Given the description of an element on the screen output the (x, y) to click on. 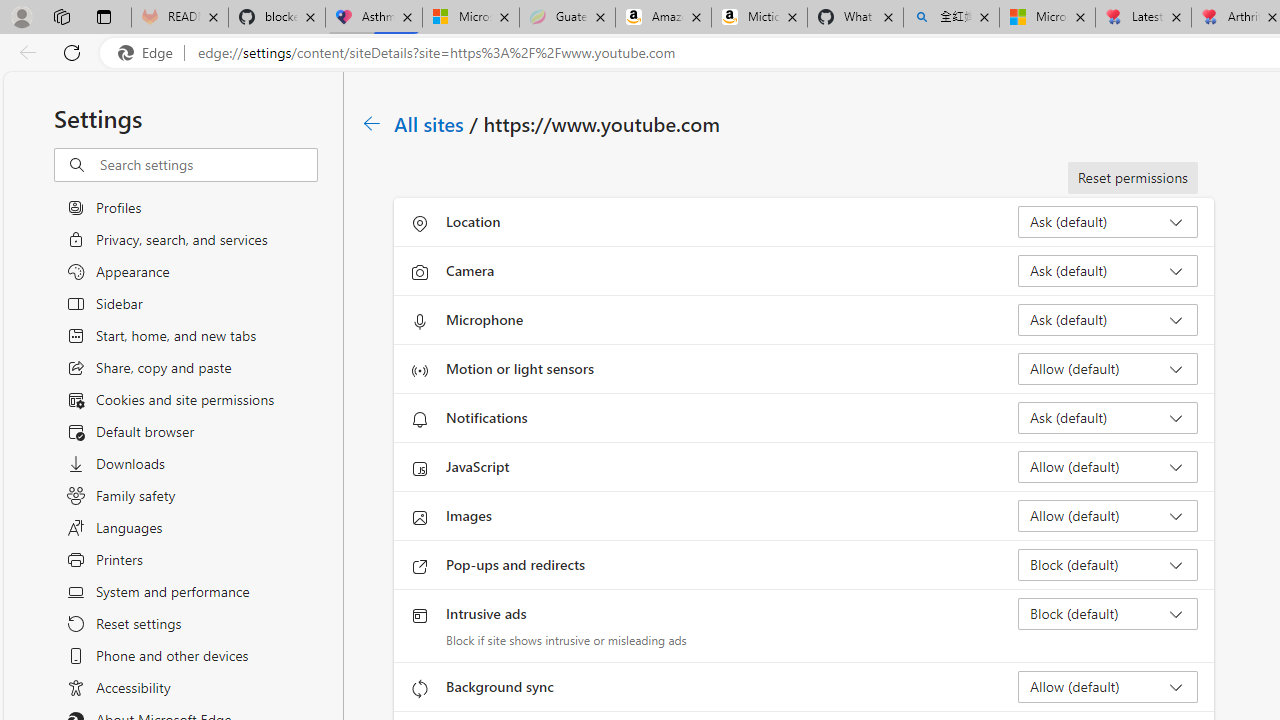
Pop-ups and redirects Block (default) (1107, 564)
Search settings (207, 165)
All sites (429, 123)
JavaScript Allow (default) (1107, 466)
Camera Ask (default) (1107, 270)
Asthma Inhalers: Names and Types (374, 17)
Notifications Ask (default) (1107, 417)
